Given the description of an element on the screen output the (x, y) to click on. 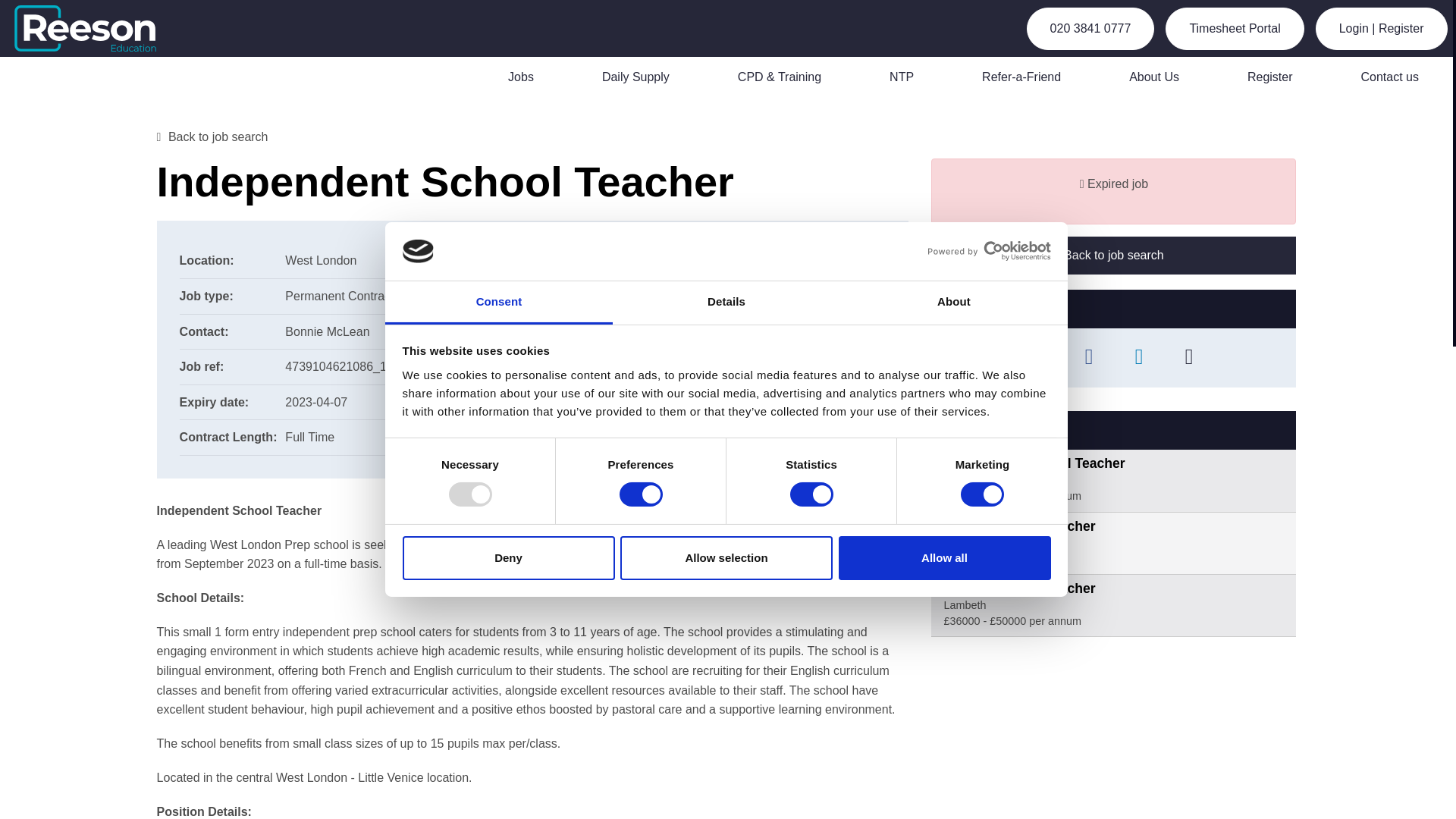
LinkedIn (1138, 357)
Twitter (1039, 357)
Allow all (944, 557)
Deny (507, 557)
Details (726, 302)
About (953, 302)
Allow selection (726, 557)
Facebook (1088, 357)
020 3841 0777 (1090, 28)
Go to the Homepage (94, 28)
